Given the description of an element on the screen output the (x, y) to click on. 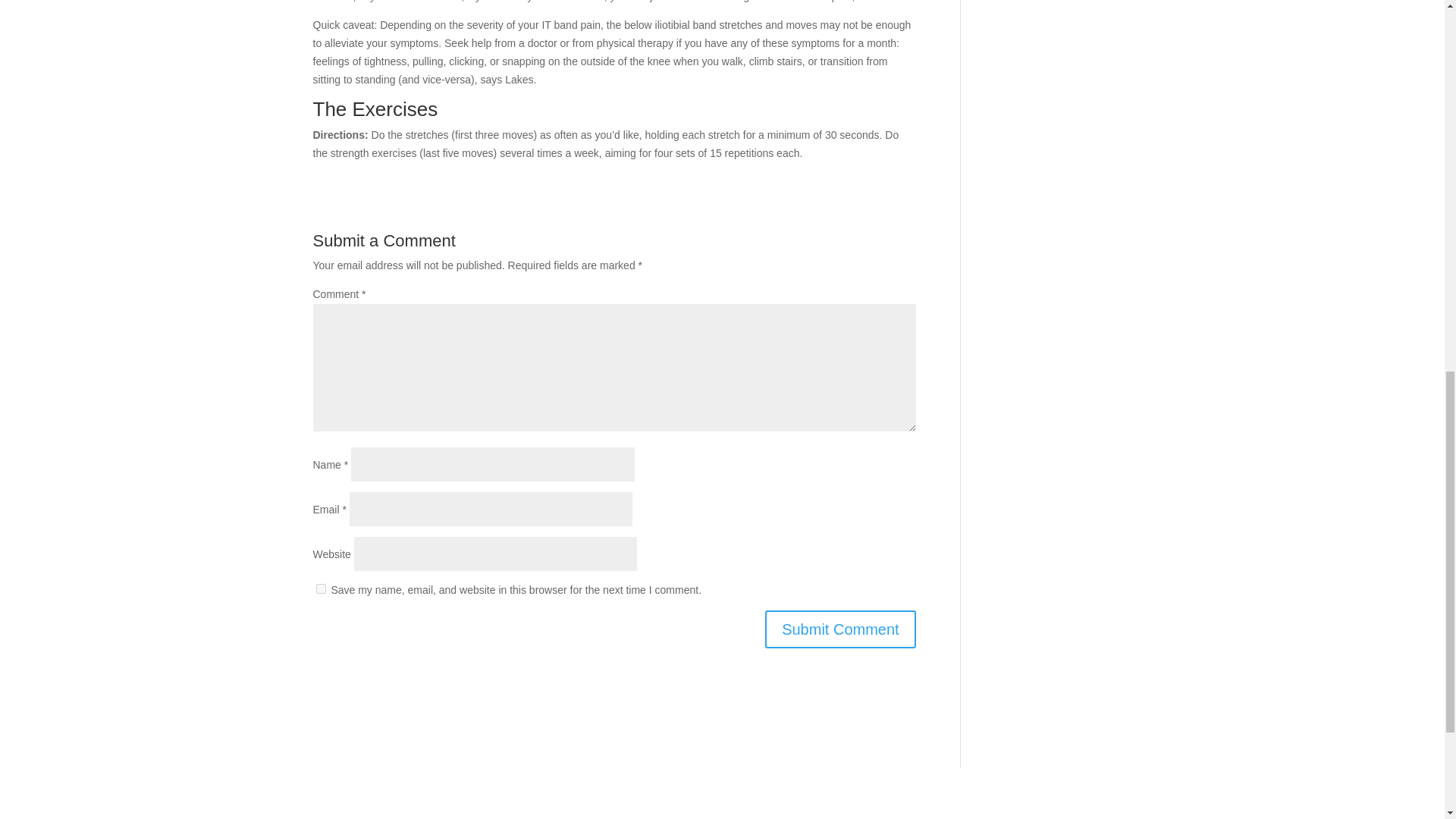
yes (319, 588)
Submit Comment (840, 629)
Submit Comment (840, 629)
